Given the description of an element on the screen output the (x, y) to click on. 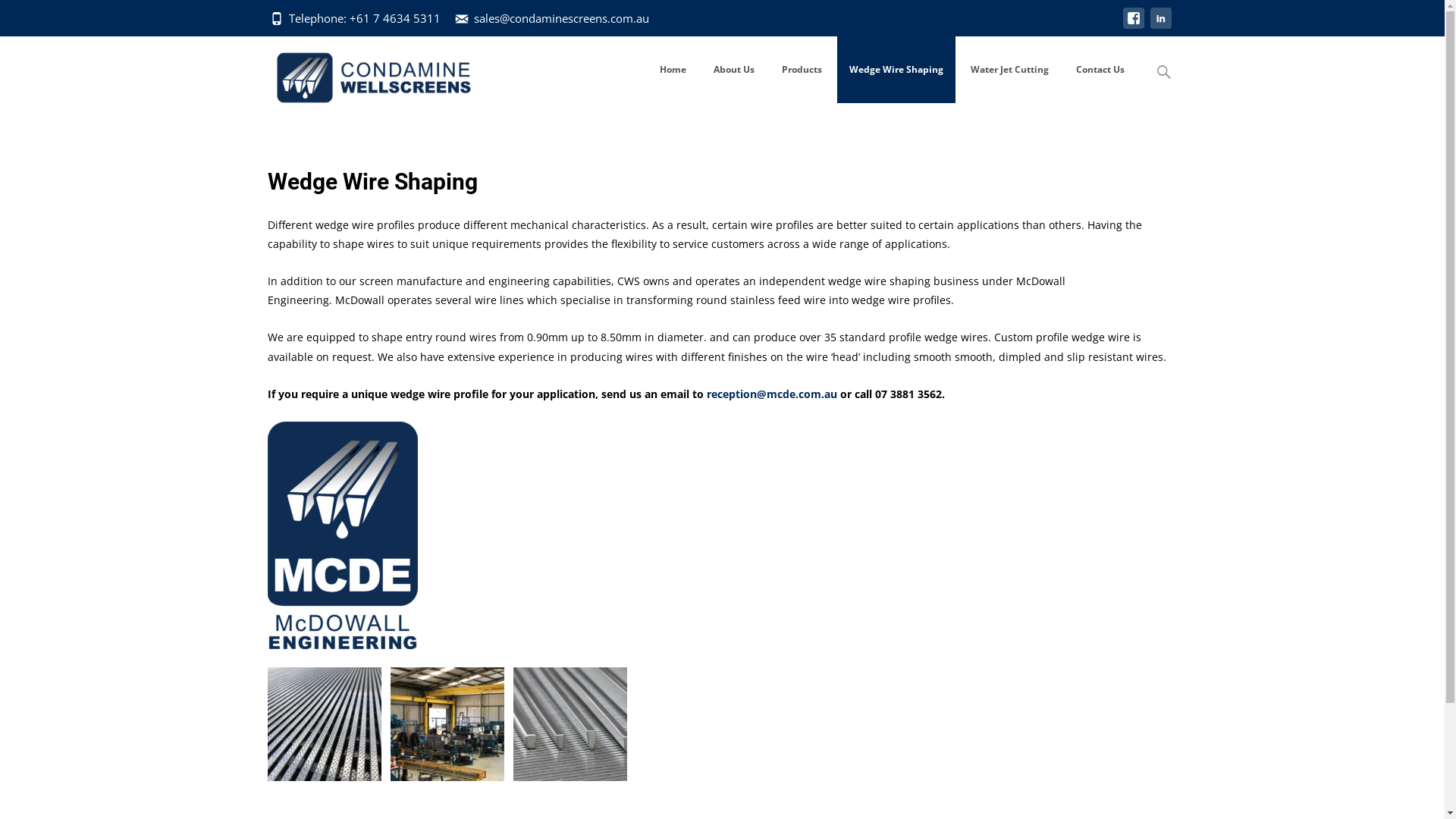
Wedge Wire Shaping Element type: text (896, 69)
Contact Us Element type: text (1099, 69)
Condamine Wellscreens Element type: hover (360, 73)
Products Element type: text (800, 69)
facebook Element type: hover (1132, 25)
Skip to content Element type: text (646, 35)
Water Jet Cutting Element type: text (1009, 69)
Search for: Element type: hover (1163, 72)
Home Element type: text (672, 69)
About Us Element type: text (732, 69)
Search Element type: text (18, 15)
reception@mcde.com.au Element type: text (771, 393)
linkedin Element type: hover (1159, 25)
